Given the description of an element on the screen output the (x, y) to click on. 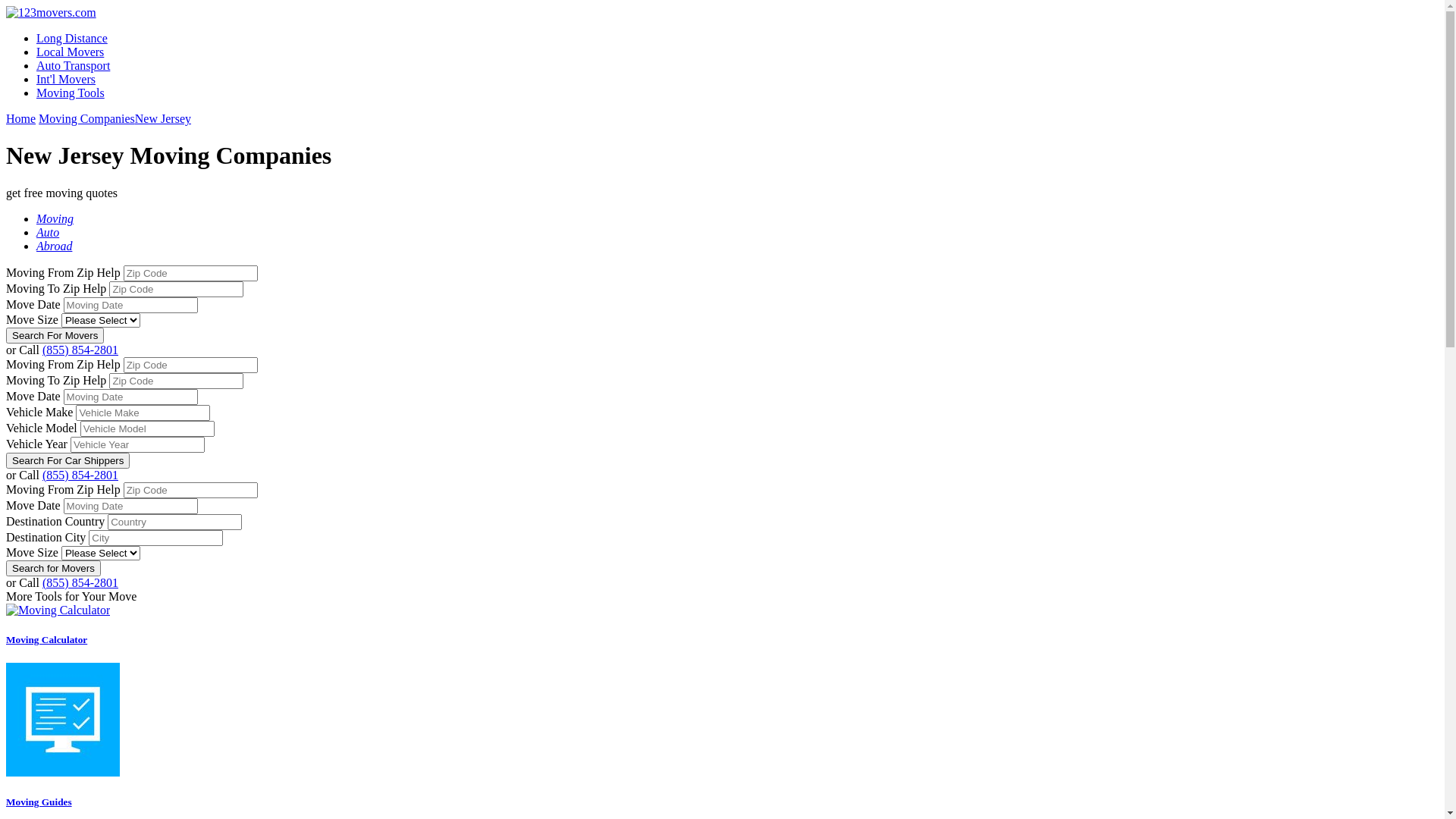
Auto Transport Element type: text (72, 65)
Long Distance Element type: text (71, 37)
(855) 854-2801 Element type: text (80, 349)
Moving Companies Element type: text (86, 118)
Abroad Element type: text (54, 245)
Moving Guides Element type: hover (62, 719)
Local Movers Element type: text (69, 51)
New Jersey Element type: text (162, 118)
Home Element type: text (20, 118)
Auto Element type: text (47, 231)
(855) 854-2801 Element type: text (80, 582)
Moving Calculator Element type: text (722, 624)
Moving Tools Element type: text (70, 92)
Moving Guides Element type: text (722, 735)
123movers.com Element type: hover (51, 12)
Moving Element type: text (54, 218)
Moving Calculator Element type: hover (57, 610)
Int'l Movers Element type: text (65, 78)
(855) 854-2801 Element type: text (80, 474)
